Given the description of an element on the screen output the (x, y) to click on. 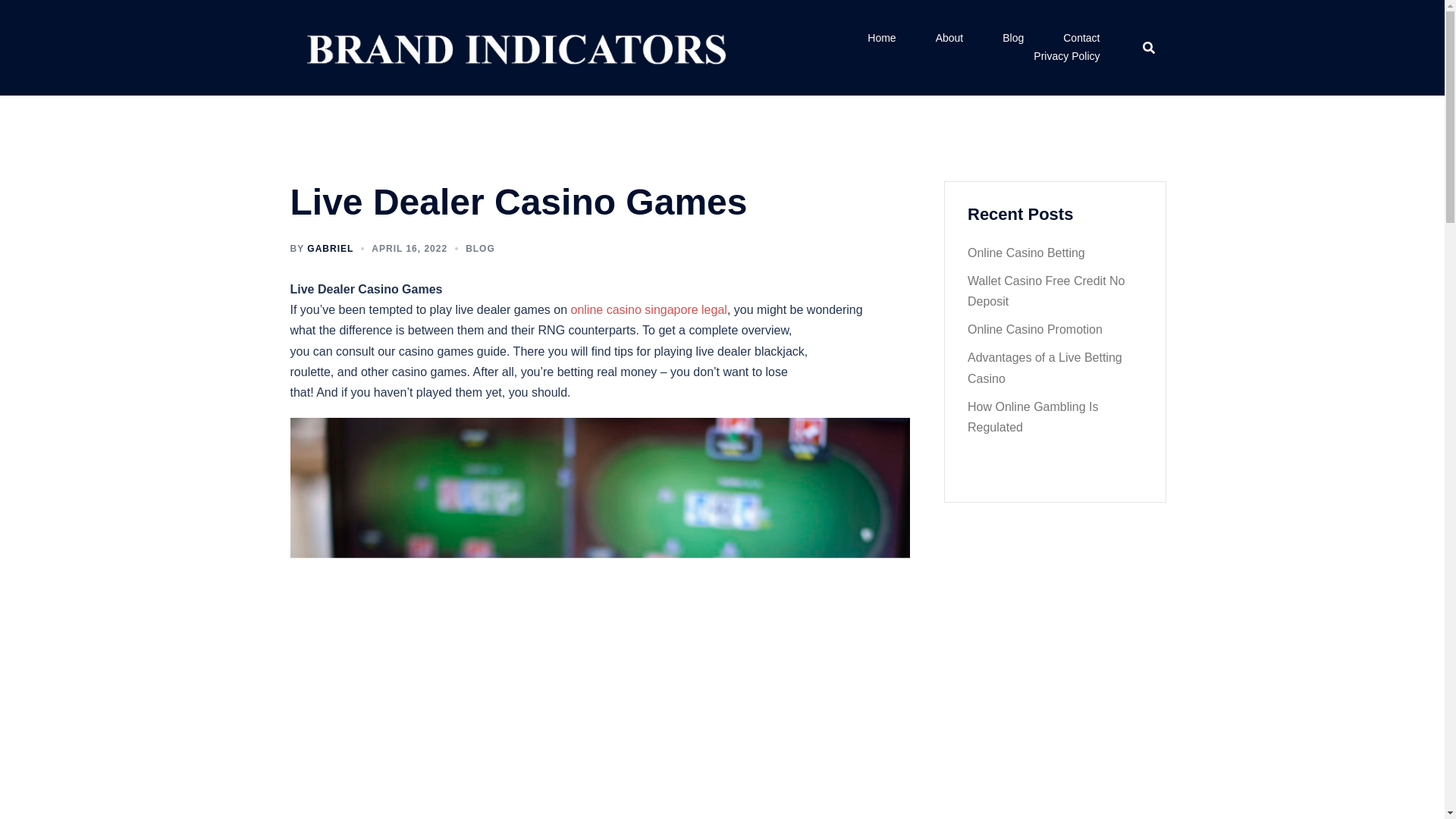
Brand Indicators (512, 46)
BLOG (480, 248)
How Online Gambling Is Regulated (1033, 417)
GABRIEL (330, 248)
Privacy Policy (1066, 56)
online casino singapore legal (648, 309)
APRIL 16, 2022 (408, 248)
Contact (1080, 38)
Advantages of a Live Betting Casino  (1045, 367)
About (949, 38)
